Given the description of an element on the screen output the (x, y) to click on. 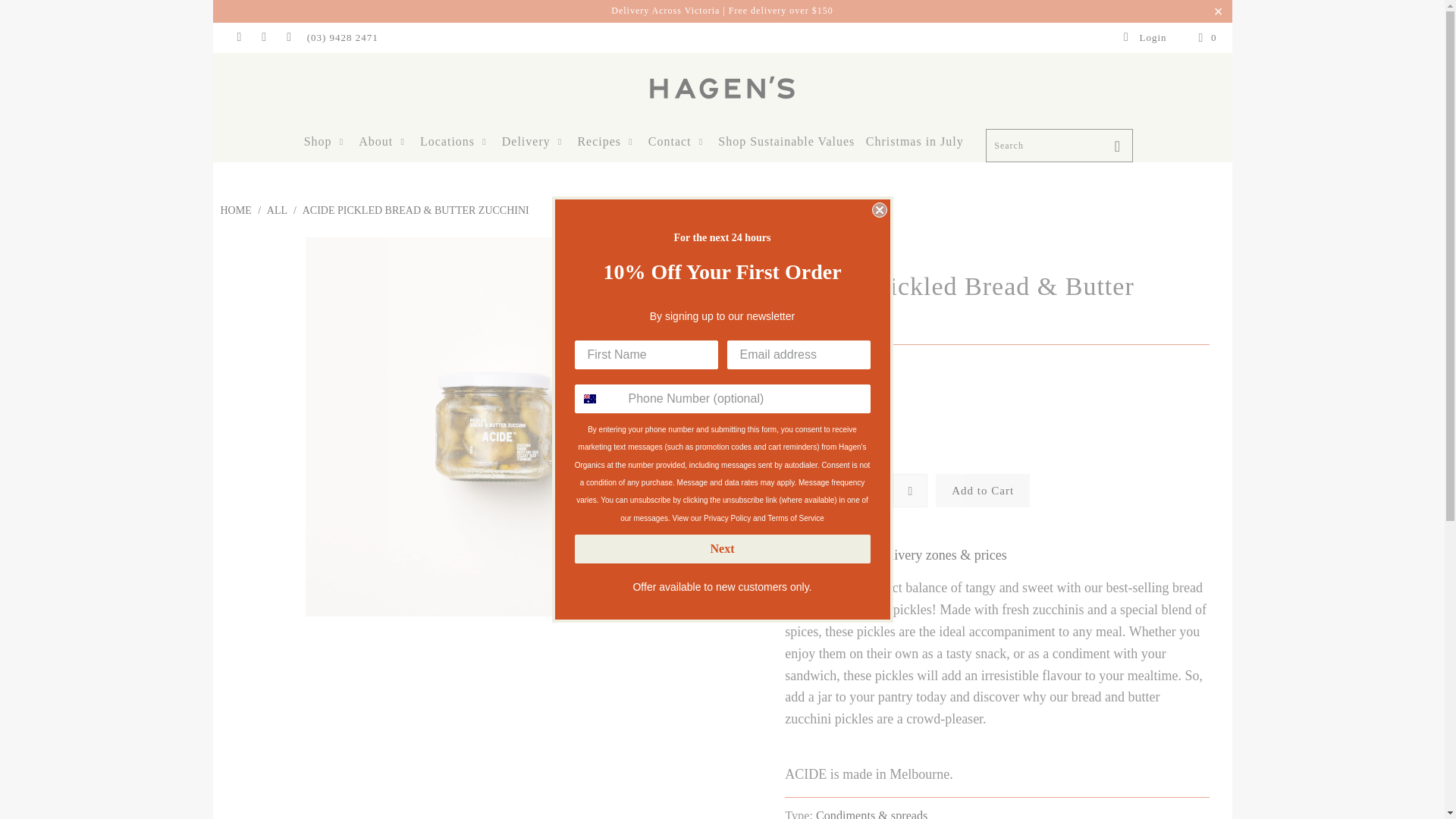
Hagen's Organics (832, 247)
Hagen's Organics (234, 210)
All (276, 210)
1 (855, 490)
Hagen's Organics on Instagram (262, 37)
Email Hagen's Organics (288, 37)
Hagen's Organics on Facebook (238, 37)
